Given the description of an element on the screen output the (x, y) to click on. 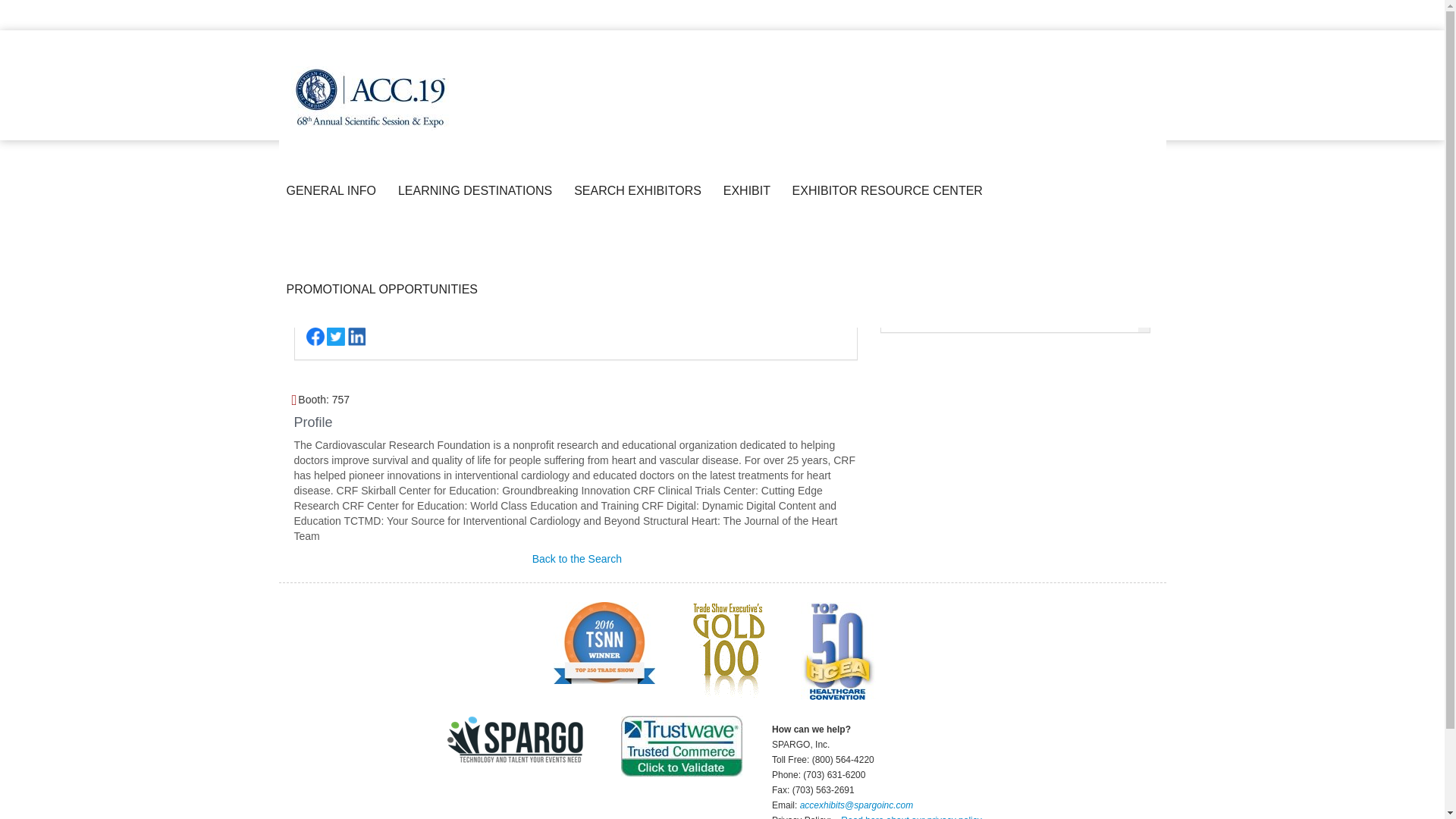
Print (363, 399)
LEARNING DESTINATIONS   (478, 190)
Add To My Exhibitors (428, 399)
SEARCH EXHIBITORS   (641, 190)
EXHIBITOR RESOURCE CENTER   (890, 190)
GENERAL INFO   (334, 190)
